Given the description of an element on the screen output the (x, y) to click on. 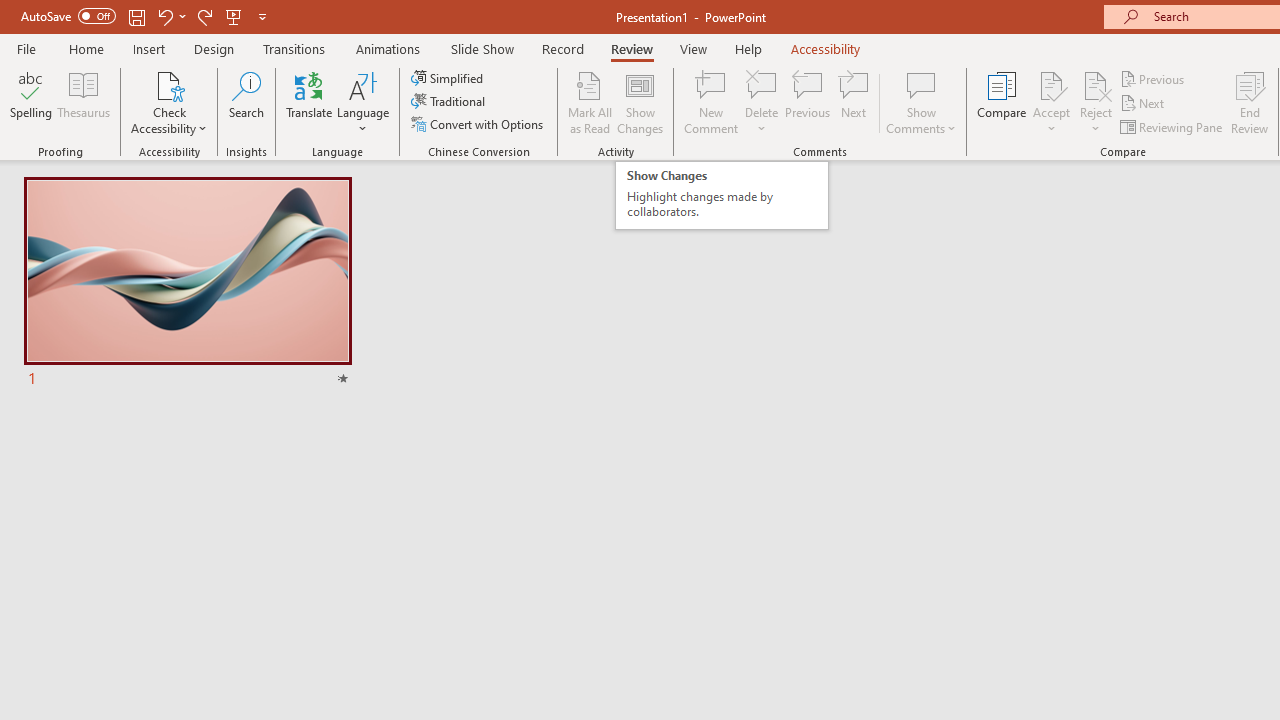
Accept Change (1051, 84)
